Given the description of an element on the screen output the (x, y) to click on. 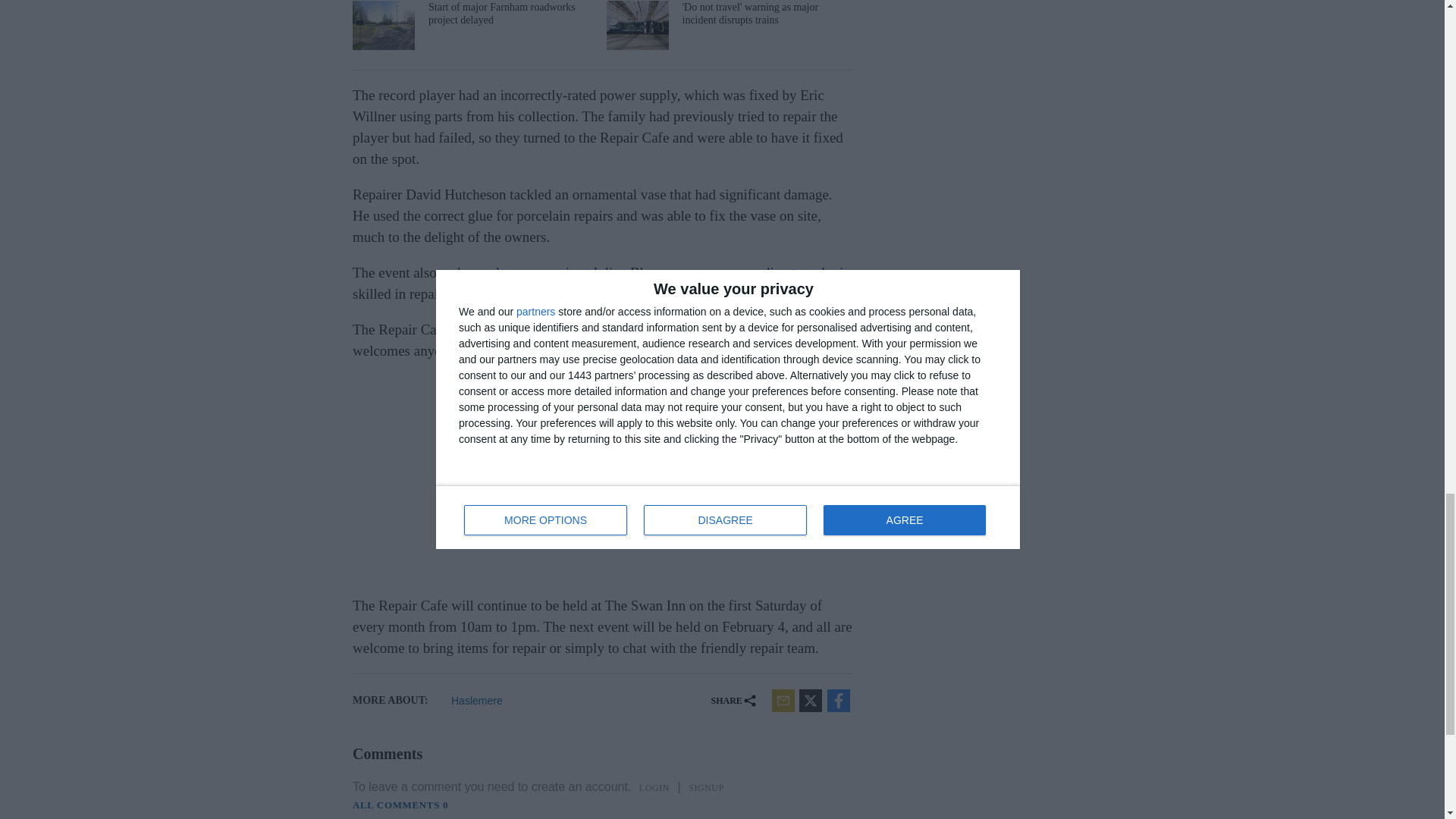
LOGIN (654, 787)
Haslemere (502, 700)
'Do not travel' warning as major incident disrupts trains (727, 24)
Start of major Farnham roadworks project delayed (473, 24)
